Given the description of an element on the screen output the (x, y) to click on. 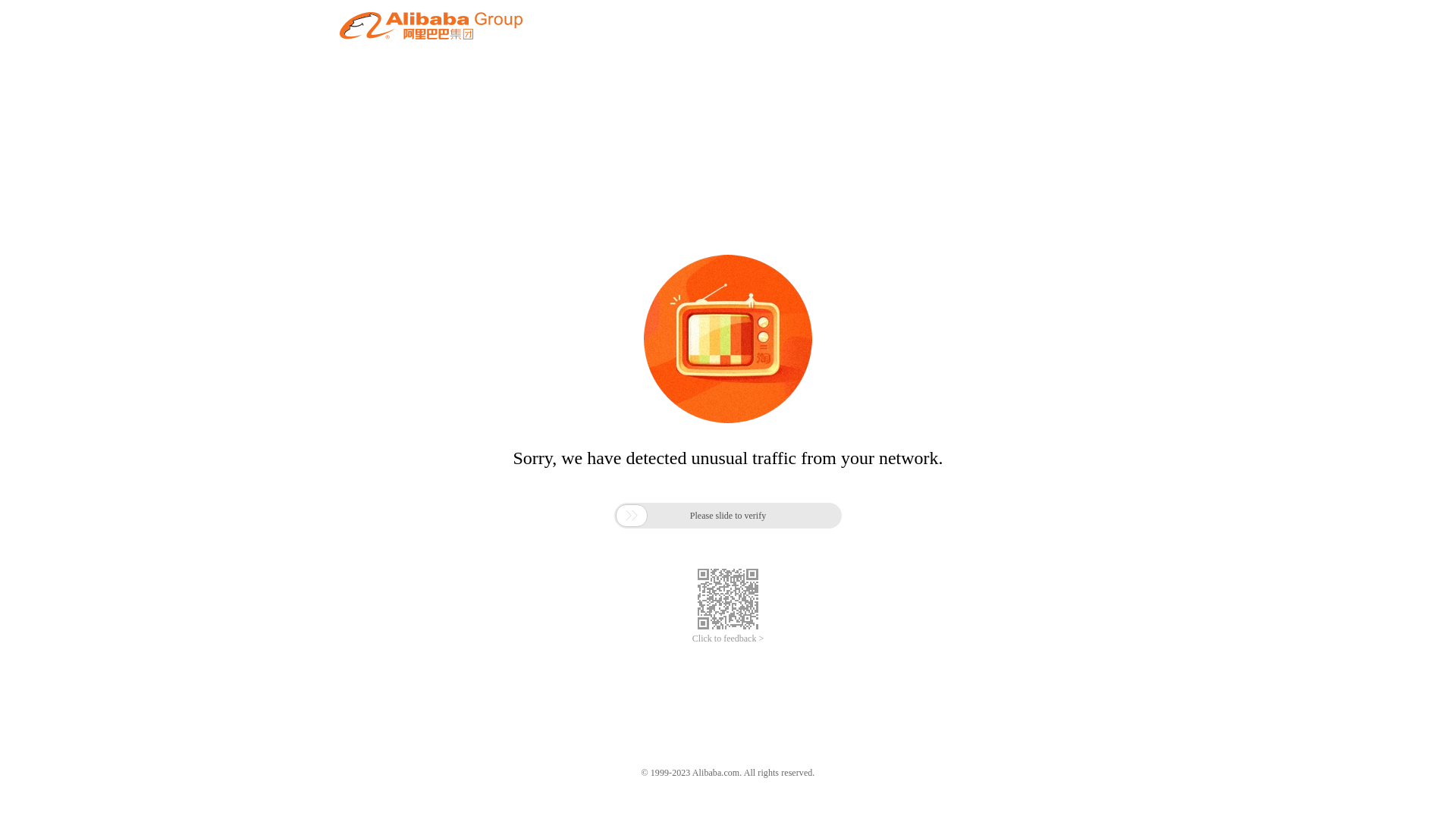
Click to feedback > Element type: text (727, 638)
